Given the description of an element on the screen output the (x, y) to click on. 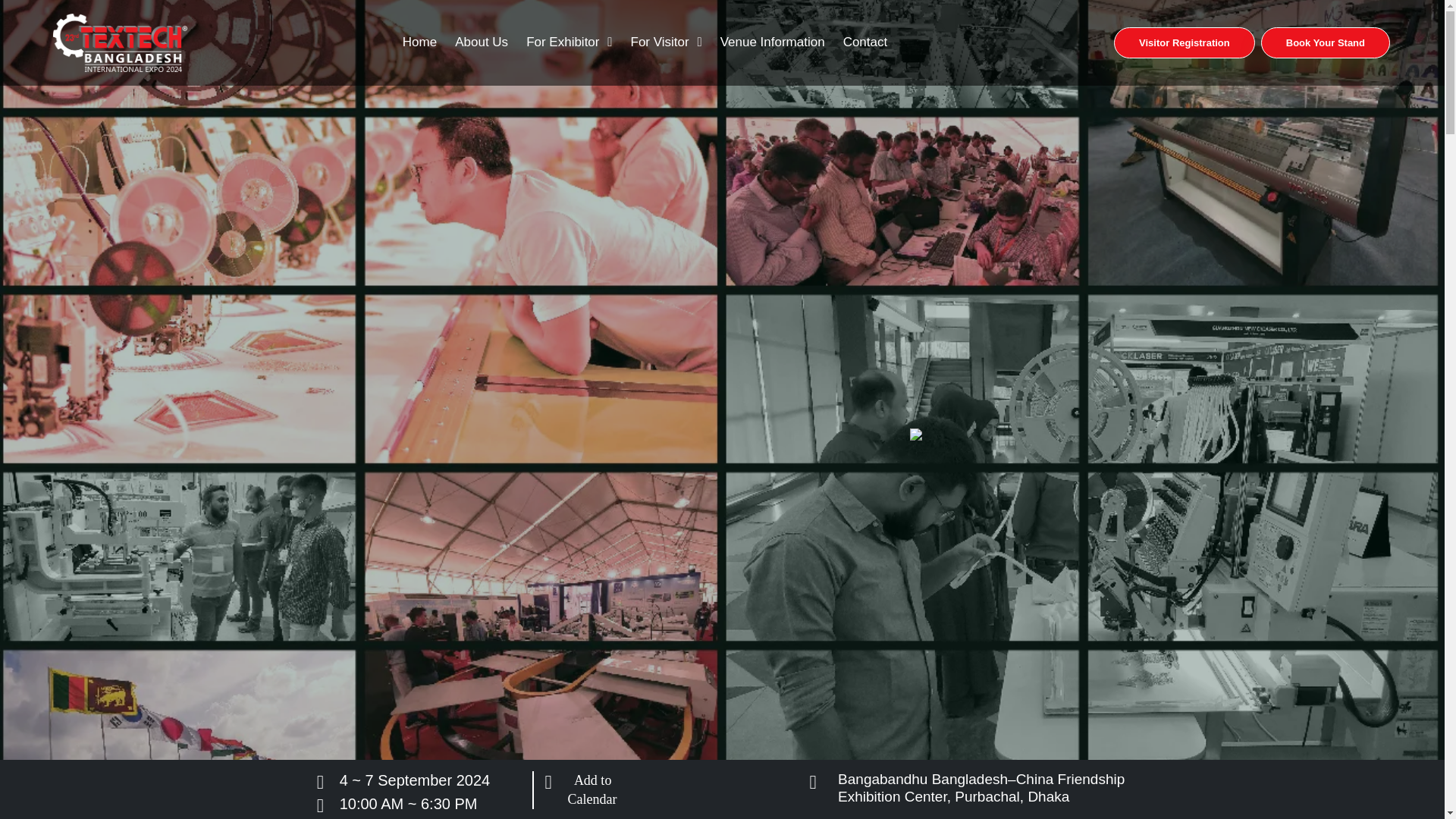
Venue Information (772, 42)
For Visitor (665, 42)
Book Your Stand (1325, 42)
For Exhibitor (568, 42)
Visitor Registration (1184, 42)
